Given the description of an element on the screen output the (x, y) to click on. 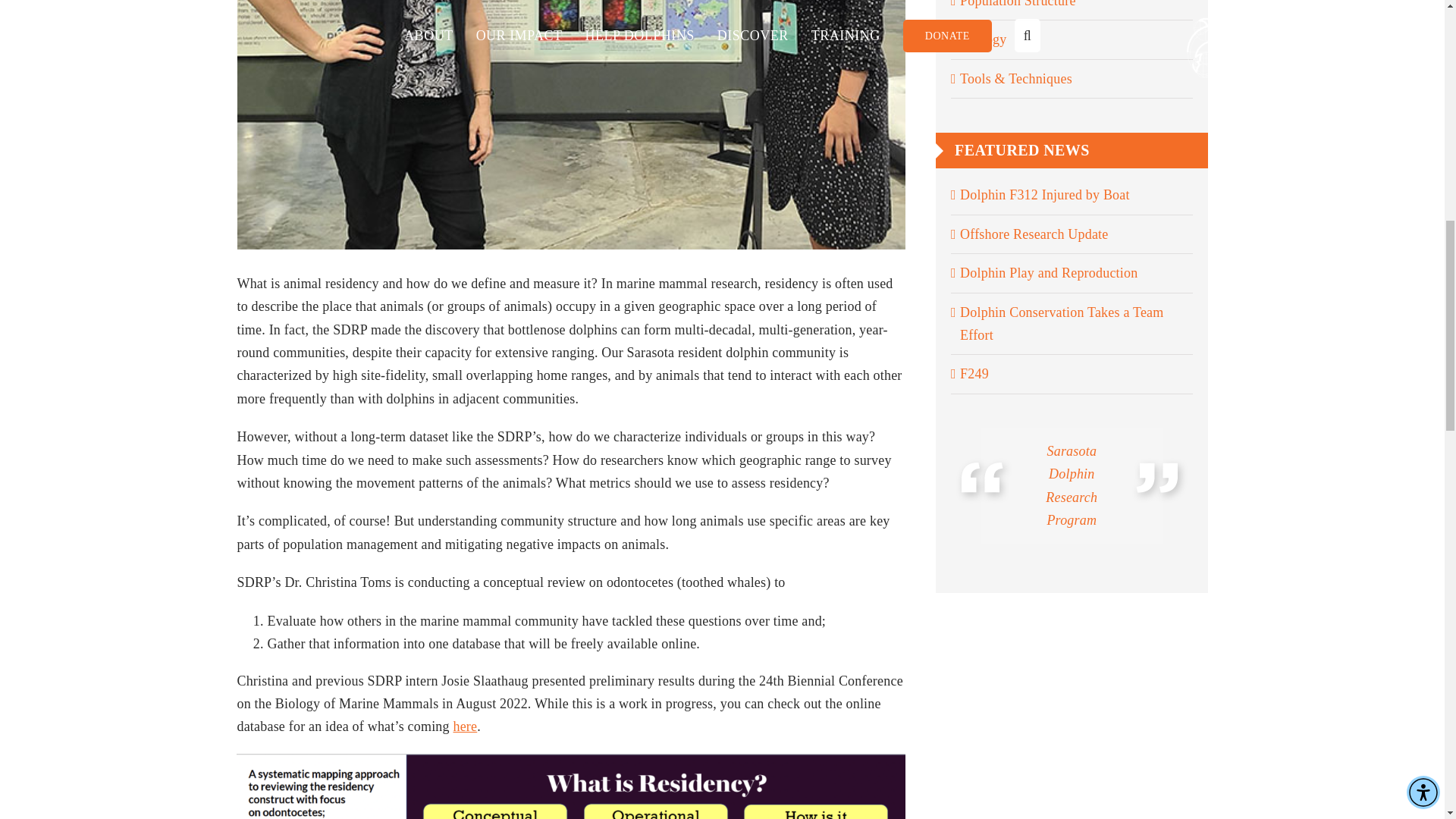
ChristinaToms-SMM2022-Poster (570, 786)
